Given the description of an element on the screen output the (x, y) to click on. 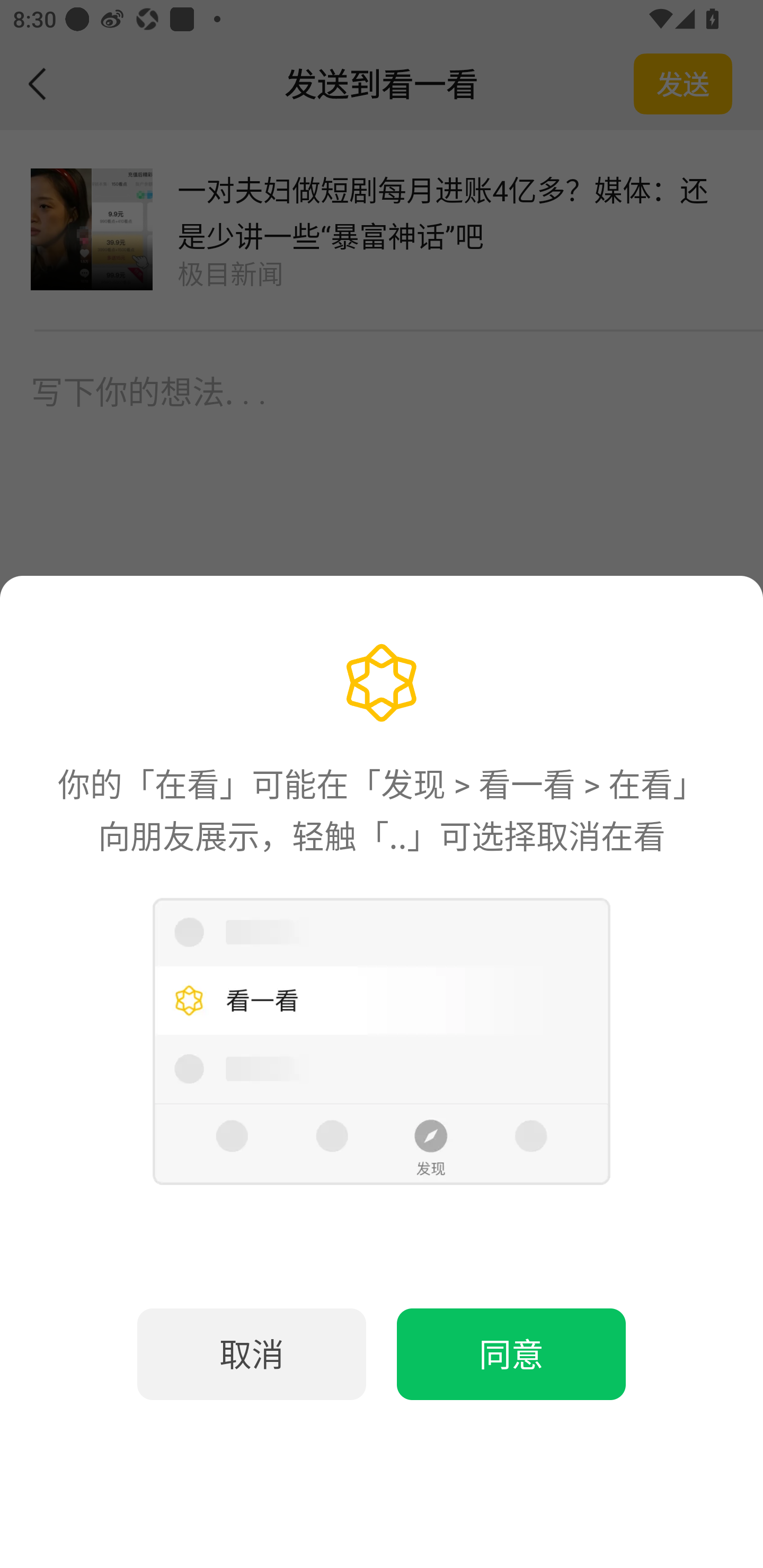
取消 (251, 1353)
同意 (510, 1353)
